Given the description of an element on the screen output the (x, y) to click on. 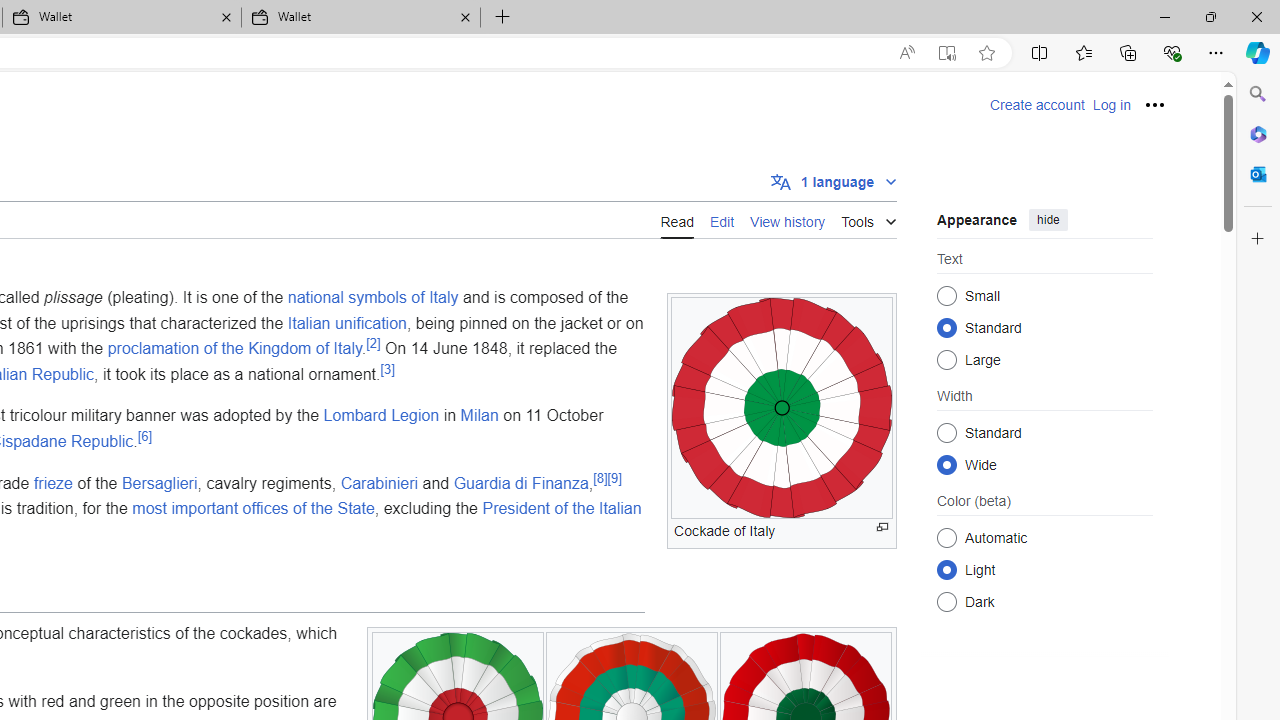
Automatic (946, 537)
Create account (1037, 105)
Bersaglieri (159, 482)
Small (946, 295)
Create account (1037, 105)
Read (676, 219)
Wallet (360, 17)
Light (946, 569)
